Given the description of an element on the screen output the (x, y) to click on. 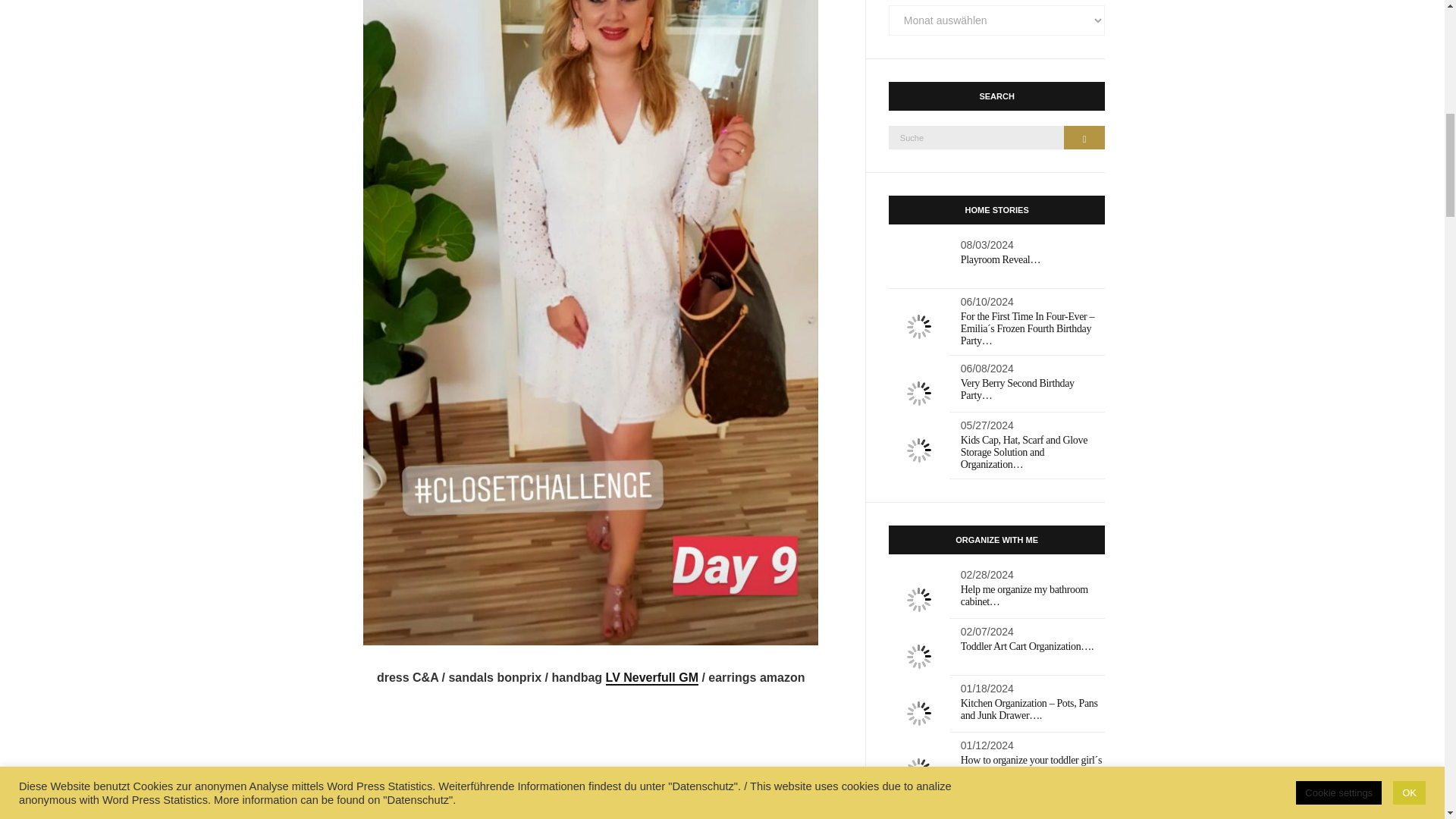
LV Neverfull GM (651, 677)
